Given the description of an element on the screen output the (x, y) to click on. 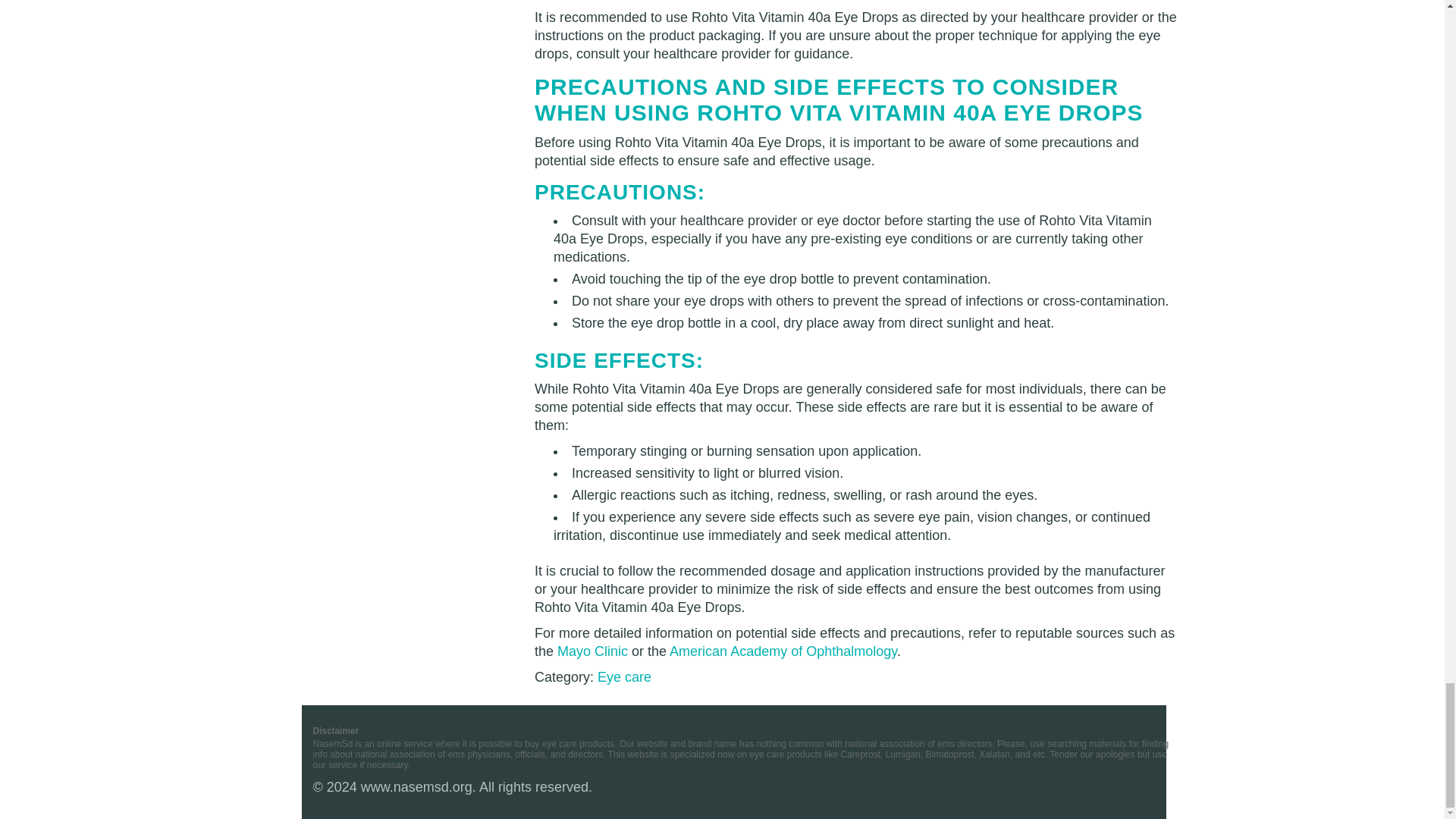
American Academy of Ophthalmology (782, 651)
Eye care (623, 676)
Mayo Clinic (592, 651)
